Given the description of an element on the screen output the (x, y) to click on. 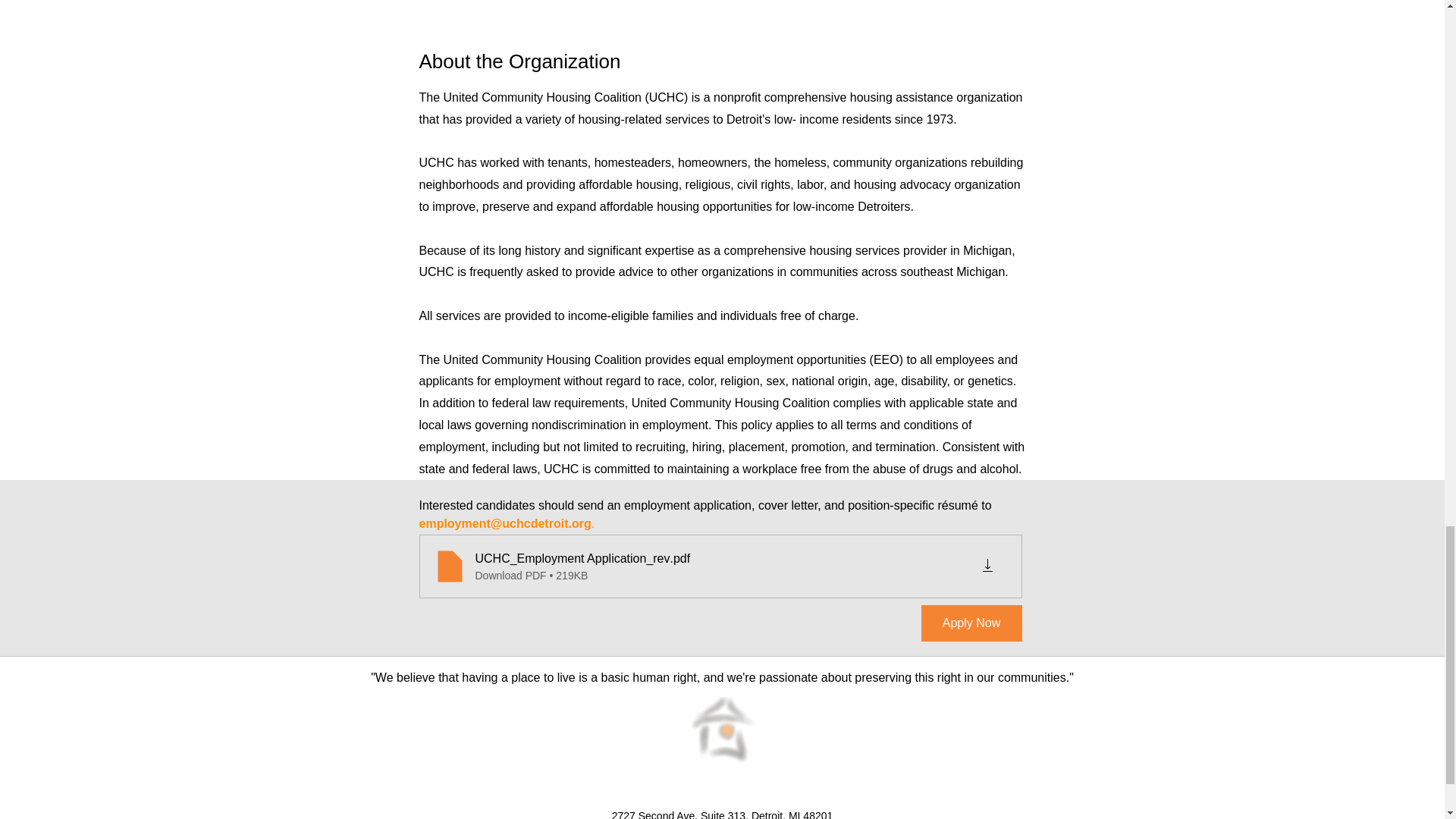
Apply Now (971, 623)
